Given the description of an element on the screen output the (x, y) to click on. 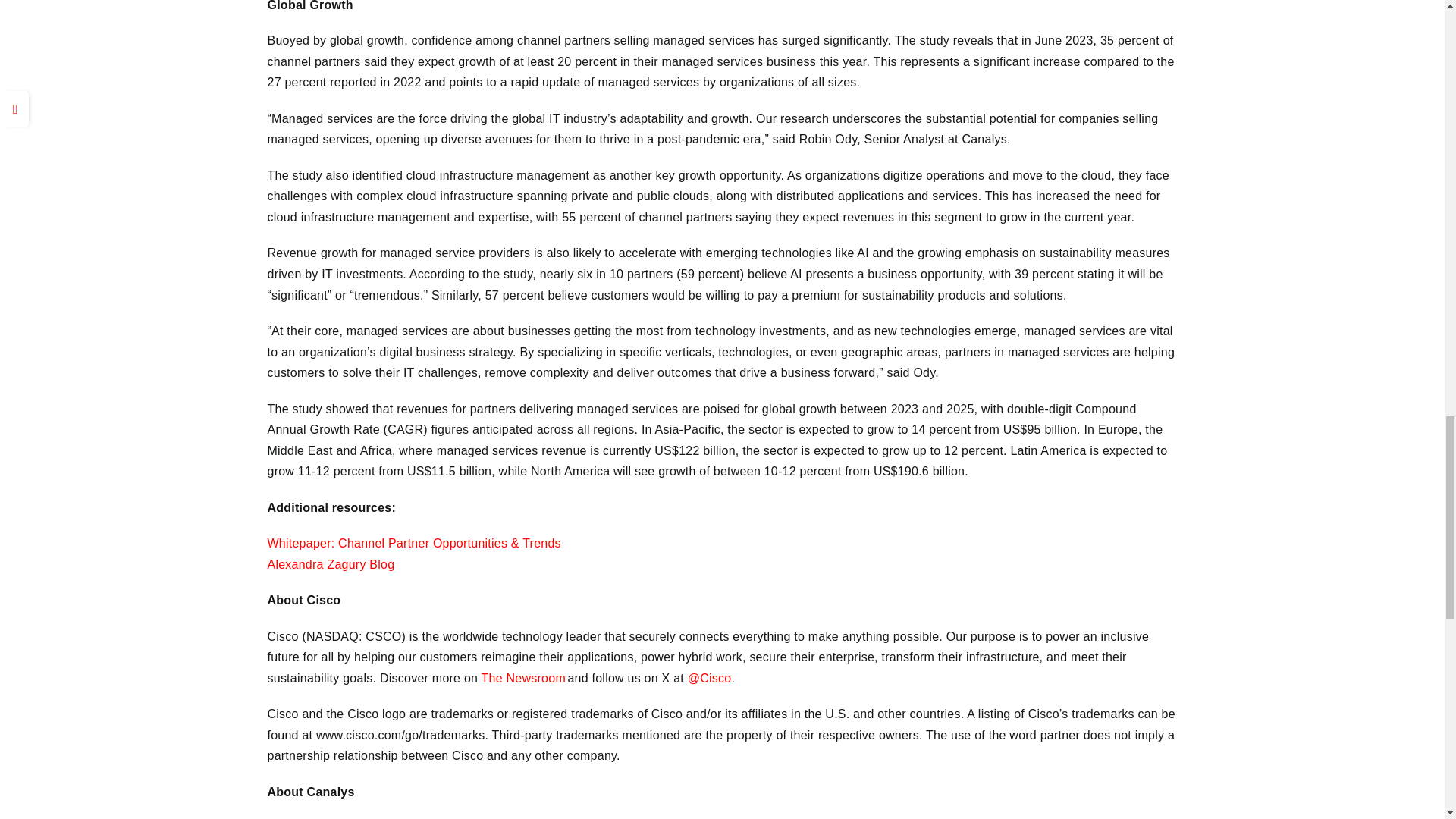
Alexandra Zagury Blog (330, 563)
The Newsroom (523, 677)
